Given the description of an element on the screen output the (x, y) to click on. 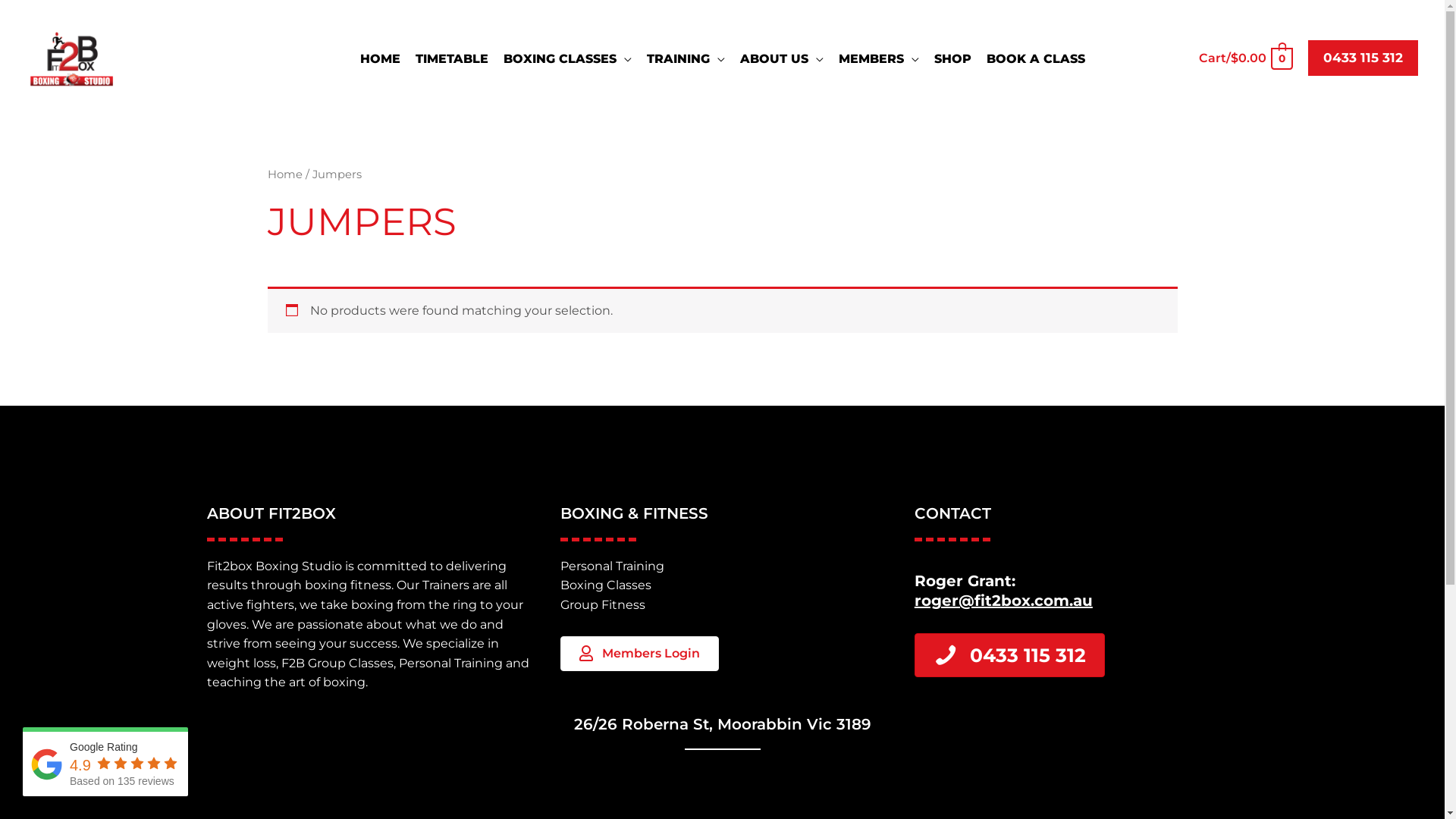
MEMBERS Element type: text (878, 59)
HOME Element type: text (379, 59)
ABOUT US Element type: text (781, 59)
Home Element type: text (283, 174)
Cart/$0.00
0 Element type: text (1244, 57)
SHOP Element type: text (952, 59)
Members Login Element type: text (639, 653)
TRAINING Element type: text (684, 59)
roger@fit2box.com.au Element type: text (1003, 600)
TIMETABLE Element type: text (451, 59)
Fit2Box Element type: text (203, 57)
0433 115 312 Element type: text (1363, 57)
BOOK A CLASS Element type: text (1035, 59)
0433 115 312 Element type: text (1009, 655)
BOXING CLASSES Element type: text (567, 59)
